Given the description of an element on the screen output the (x, y) to click on. 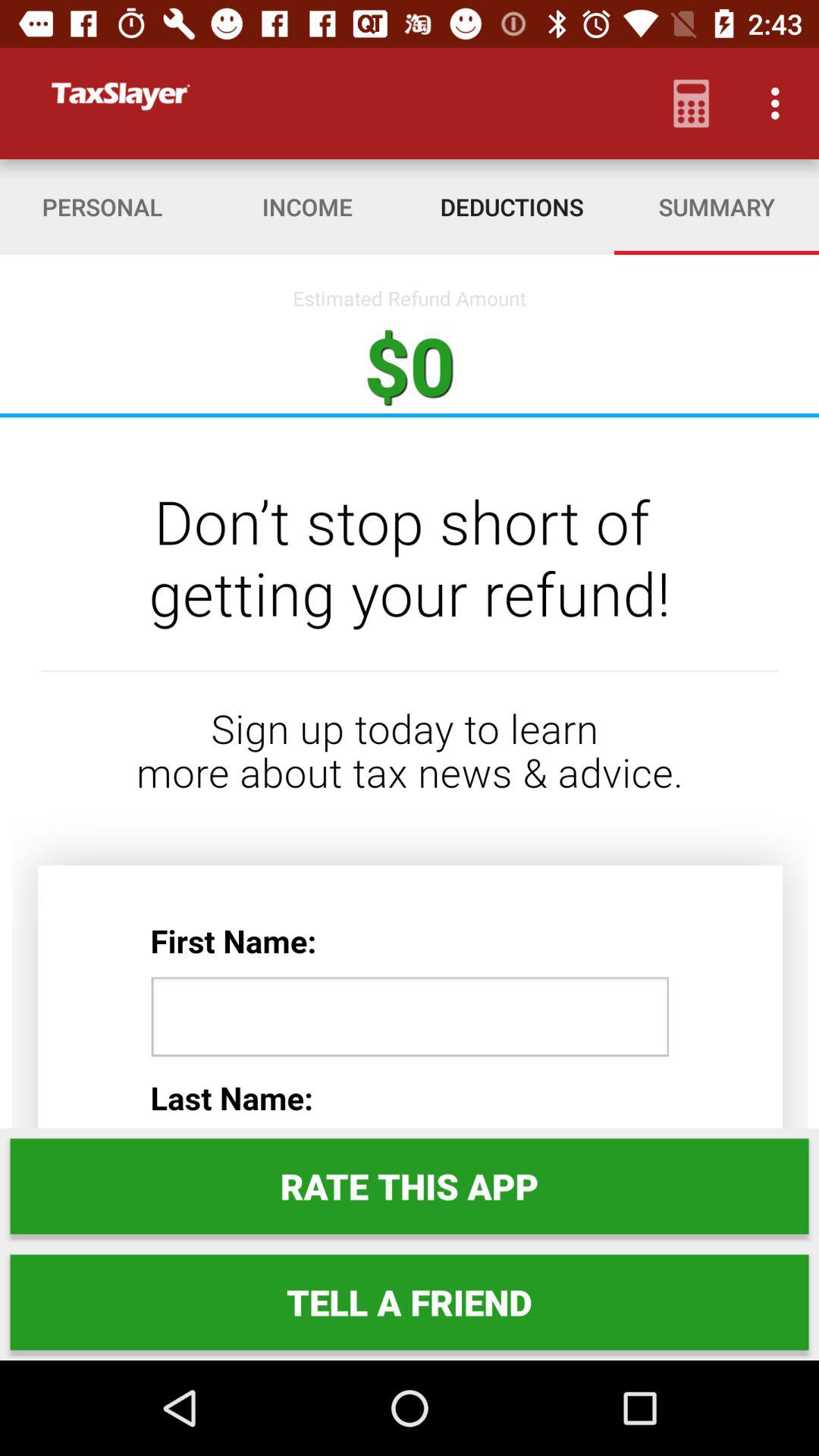
jump until rate this app (409, 1186)
